Given the description of an element on the screen output the (x, y) to click on. 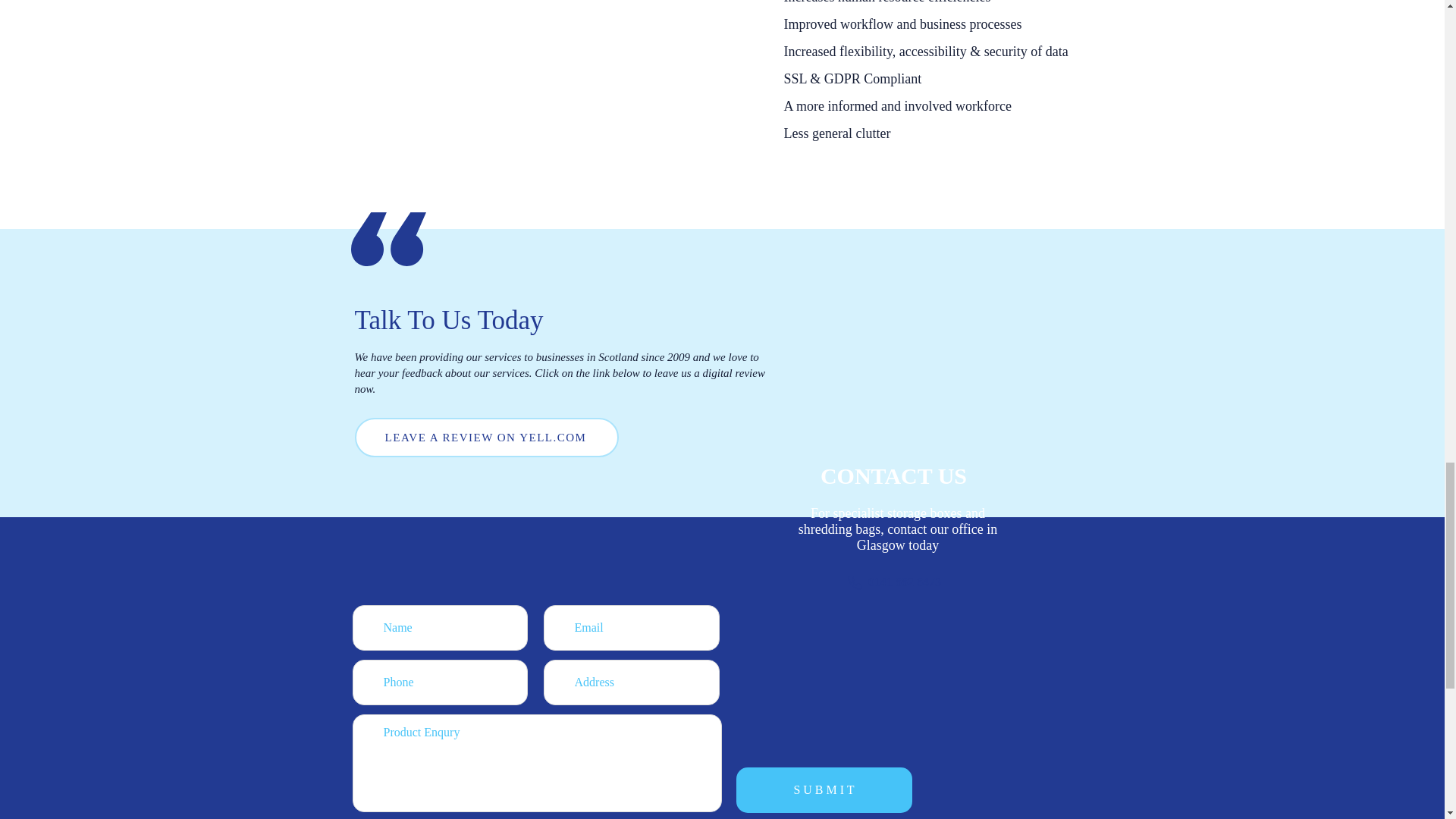
LEAVE A REVIEW ON YELL.COM (486, 437)
S U B M I T (823, 790)
0141 882 8473 (892, 582)
